Given the description of an element on the screen output the (x, y) to click on. 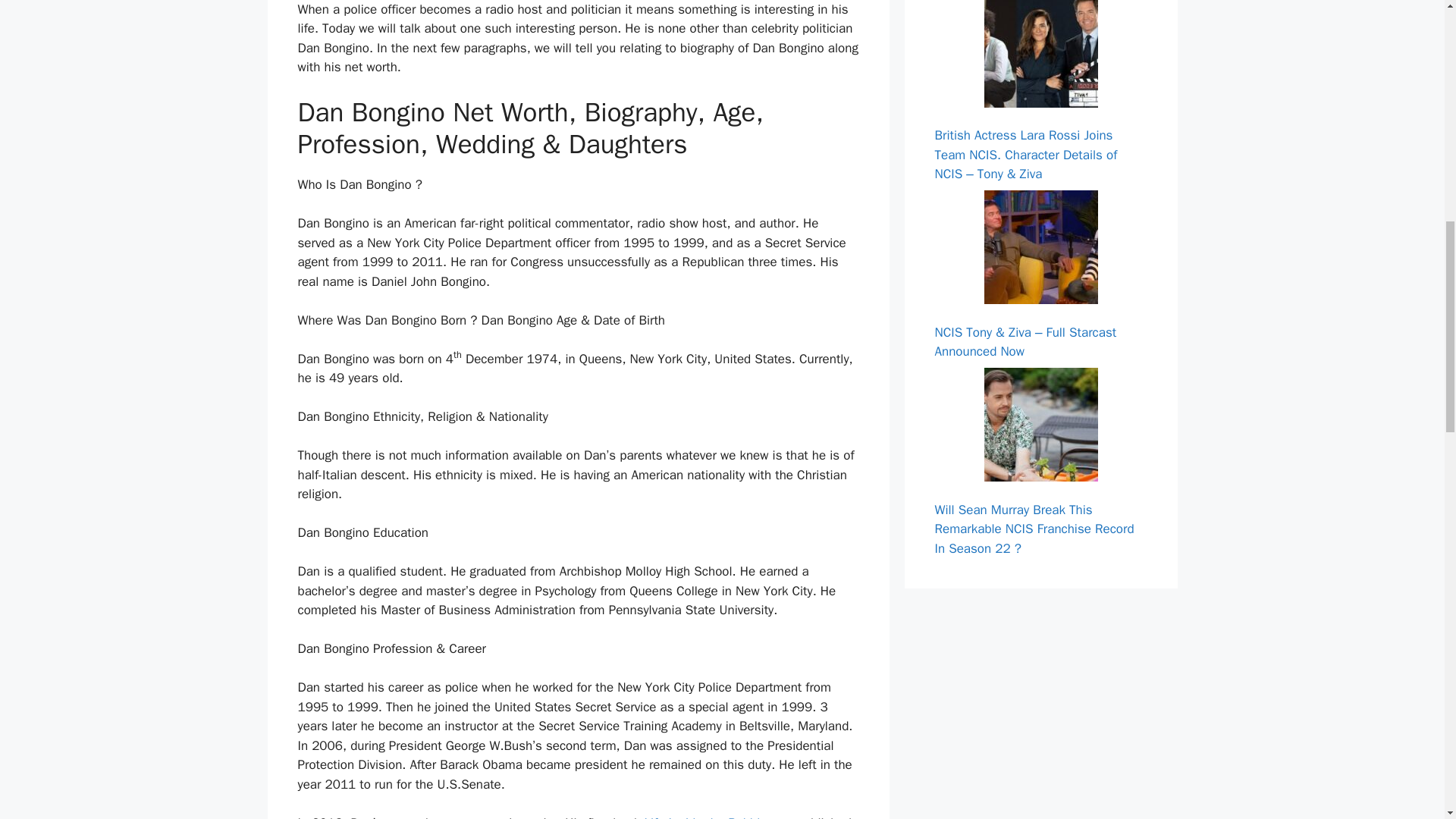
Scroll back to top (1406, 720)
Life Inside the Bubble (706, 816)
